Given the description of an element on the screen output the (x, y) to click on. 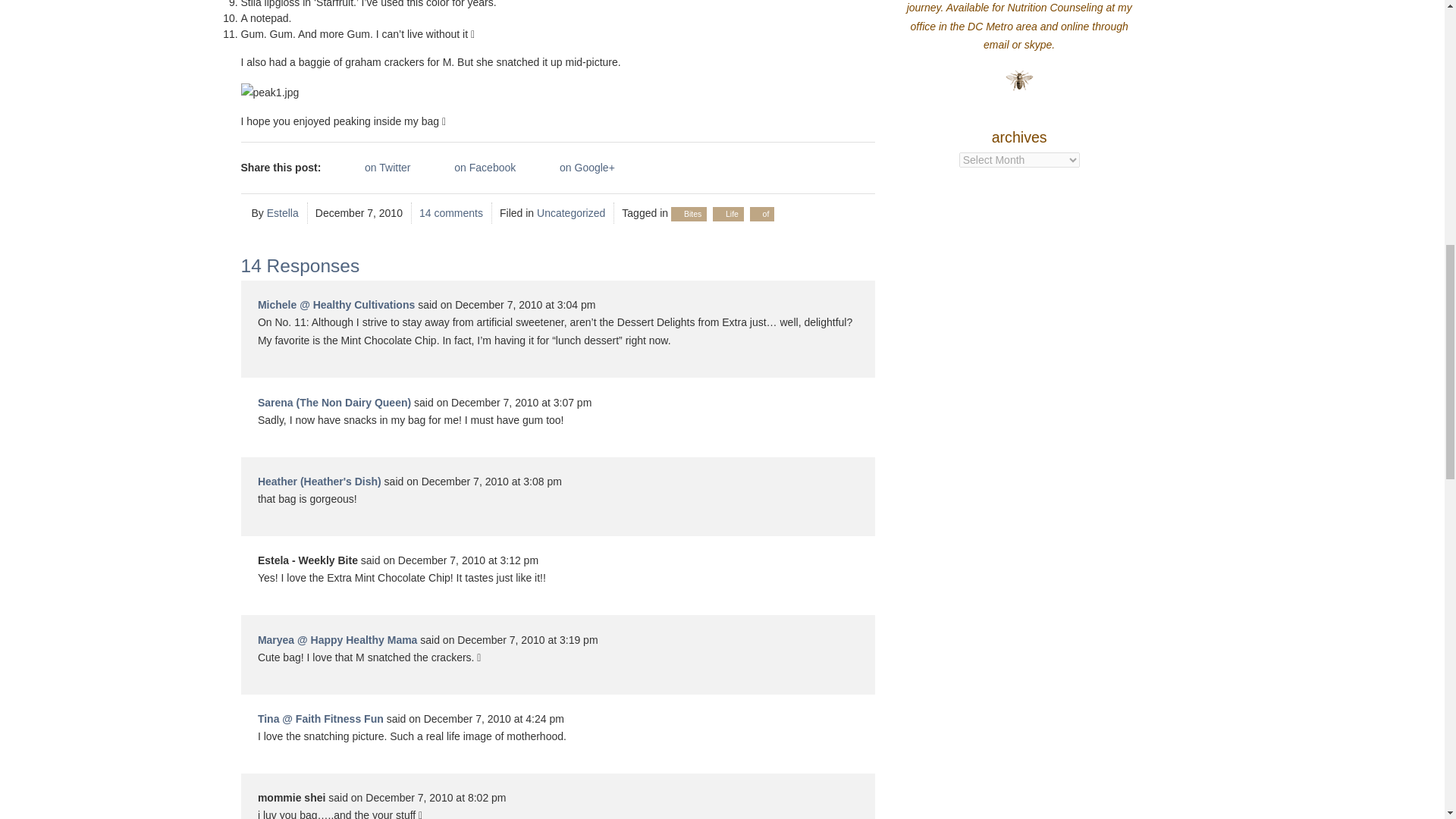
on Facebook (468, 167)
Uncategorized (571, 213)
on Twitter (371, 167)
Bites (692, 213)
14 comments (451, 213)
Estella (282, 213)
Posts by Estella (282, 213)
Life (731, 213)
